Given the description of an element on the screen output the (x, y) to click on. 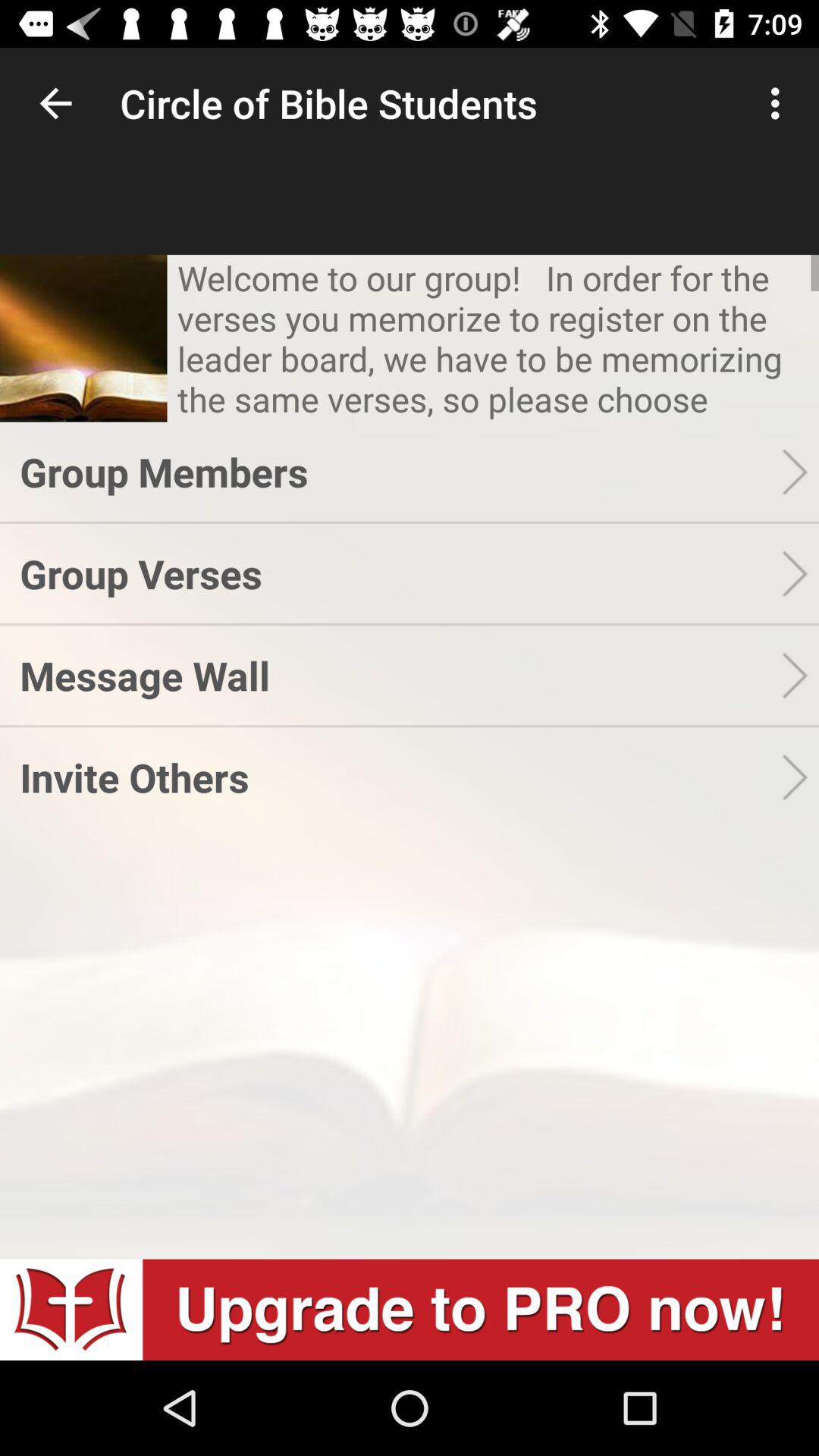
jump until invite others app (399, 776)
